Given the description of an element on the screen output the (x, y) to click on. 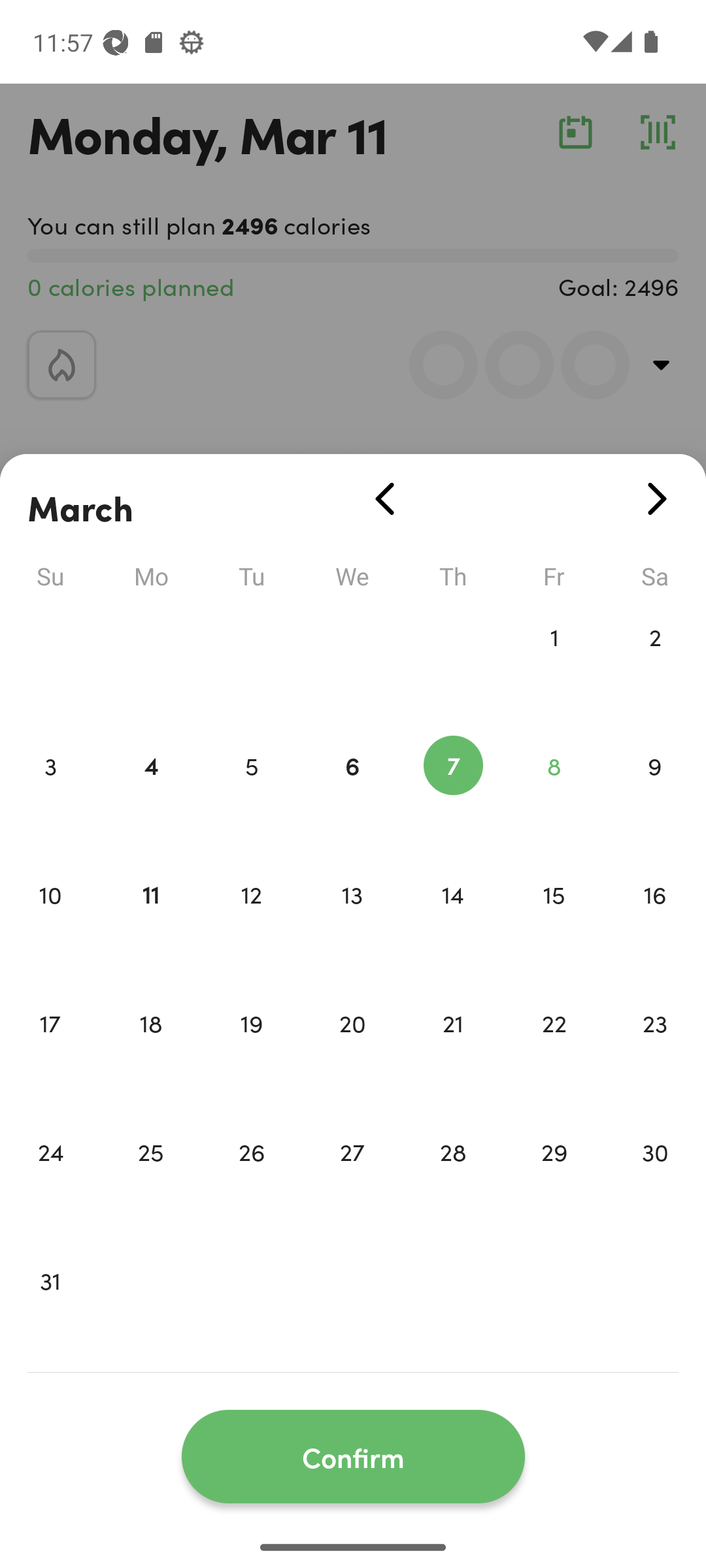
1 (554, 663)
2 (655, 663)
3 (50, 793)
4 (150, 793)
5 (251, 793)
6 (352, 793)
7 (453, 793)
8 (554, 793)
9 (655, 793)
10 (50, 921)
11 (150, 921)
12 (251, 921)
13 (352, 921)
14 (453, 921)
15 (554, 921)
16 (655, 921)
17 (50, 1050)
18 (150, 1050)
19 (251, 1050)
20 (352, 1050)
21 (453, 1050)
22 (554, 1050)
23 (655, 1050)
24 (50, 1178)
25 (150, 1178)
26 (251, 1178)
27 (352, 1178)
28 (453, 1178)
29 (554, 1178)
30 (655, 1178)
31 (50, 1307)
Confirm (353, 1456)
